Given the description of an element on the screen output the (x, y) to click on. 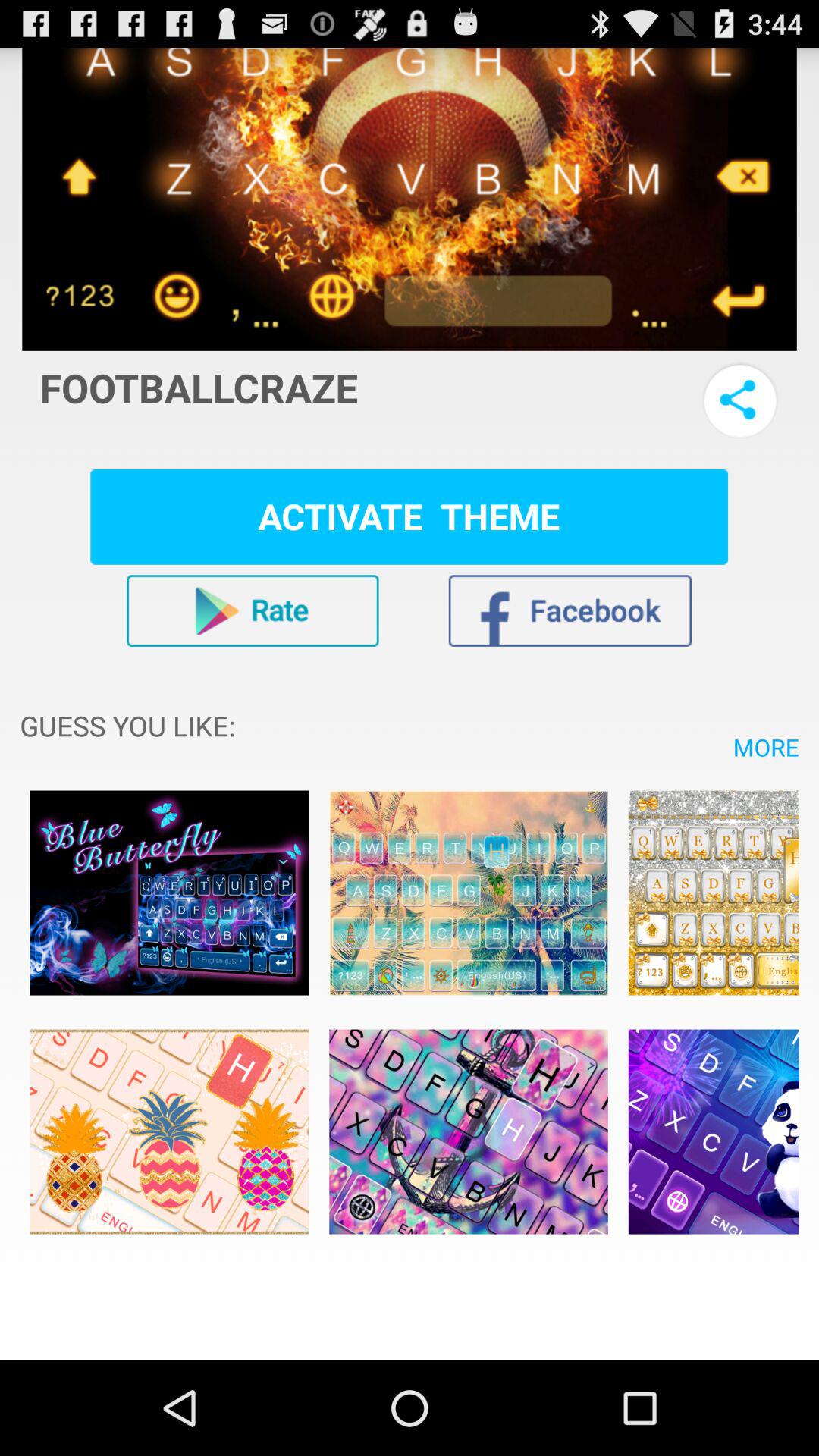
to select your choice (169, 892)
